Given the description of an element on the screen output the (x, y) to click on. 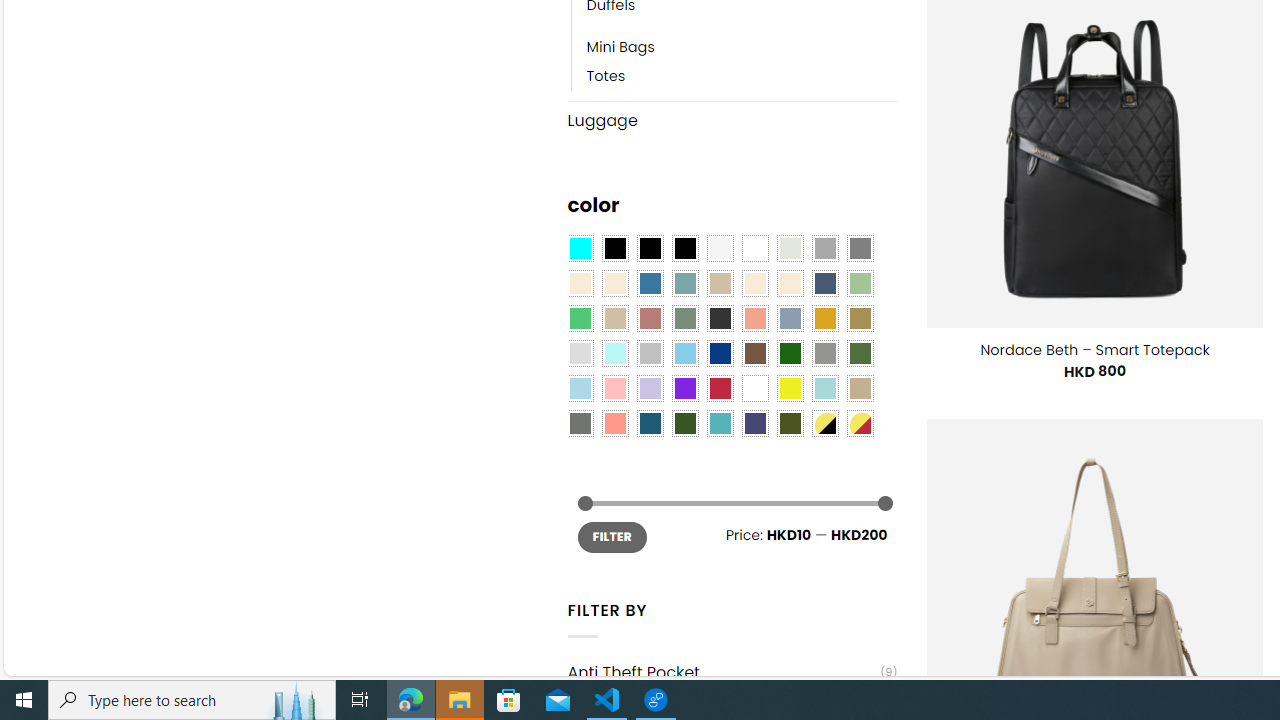
Yellow-Black (824, 424)
Blue Sage (684, 283)
Sky Blue (684, 354)
Pearly White (719, 249)
Light Green (859, 283)
FILTER (612, 536)
Light Blue (579, 388)
Dull Nickle (579, 424)
Hale Navy (824, 283)
Peach Pink (614, 424)
Coral (755, 318)
Gray (824, 354)
Black-Brown (684, 249)
Aqua (824, 388)
